Given the description of an element on the screen output the (x, y) to click on. 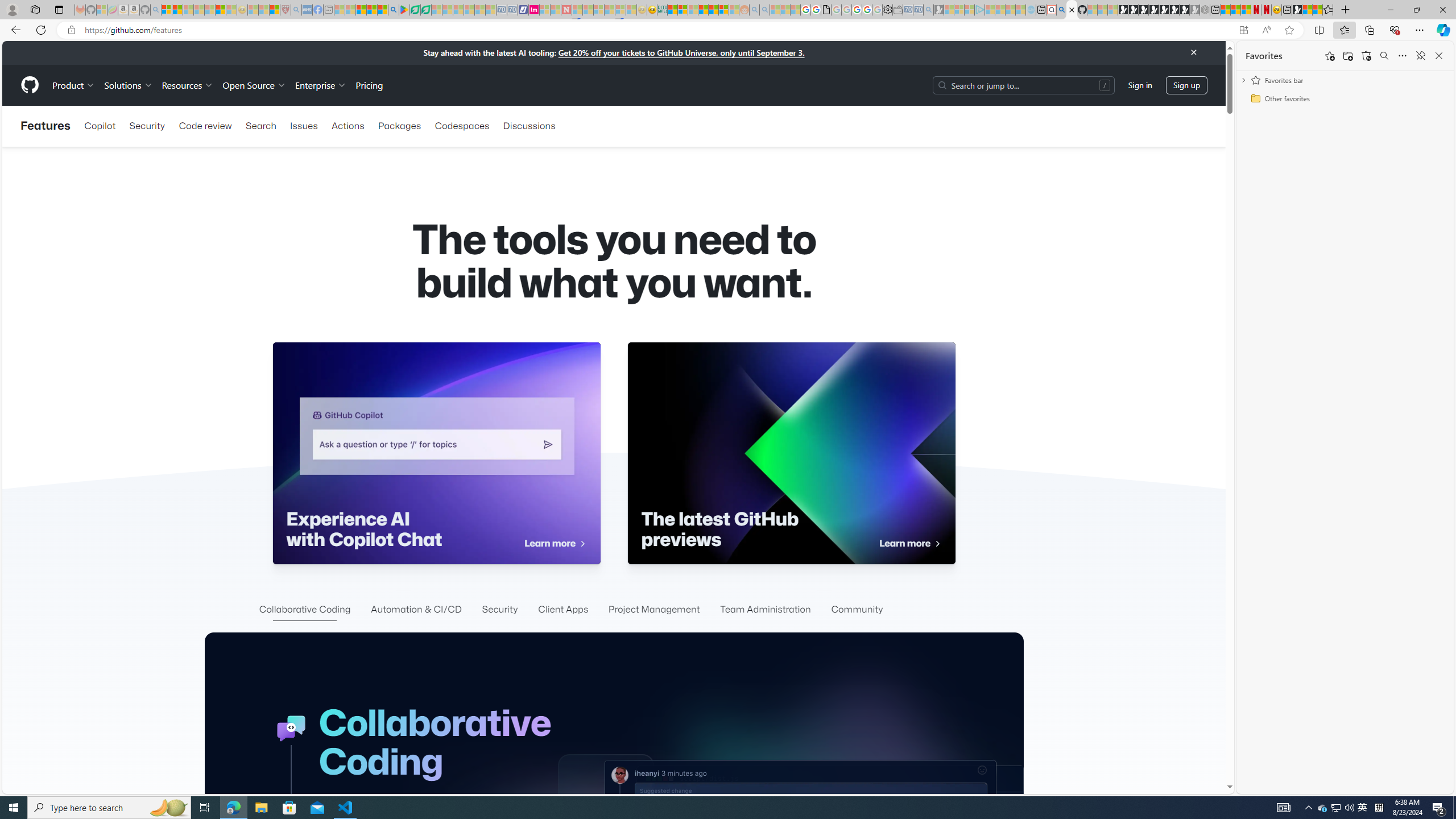
Issues (303, 125)
The latest GitHub previews Learn more  (791, 453)
Restore deleted favorites (1366, 55)
Bluey: Let's Play! - Apps on Google Play (404, 9)
Solutions (128, 84)
